Given the description of an element on the screen output the (x, y) to click on. 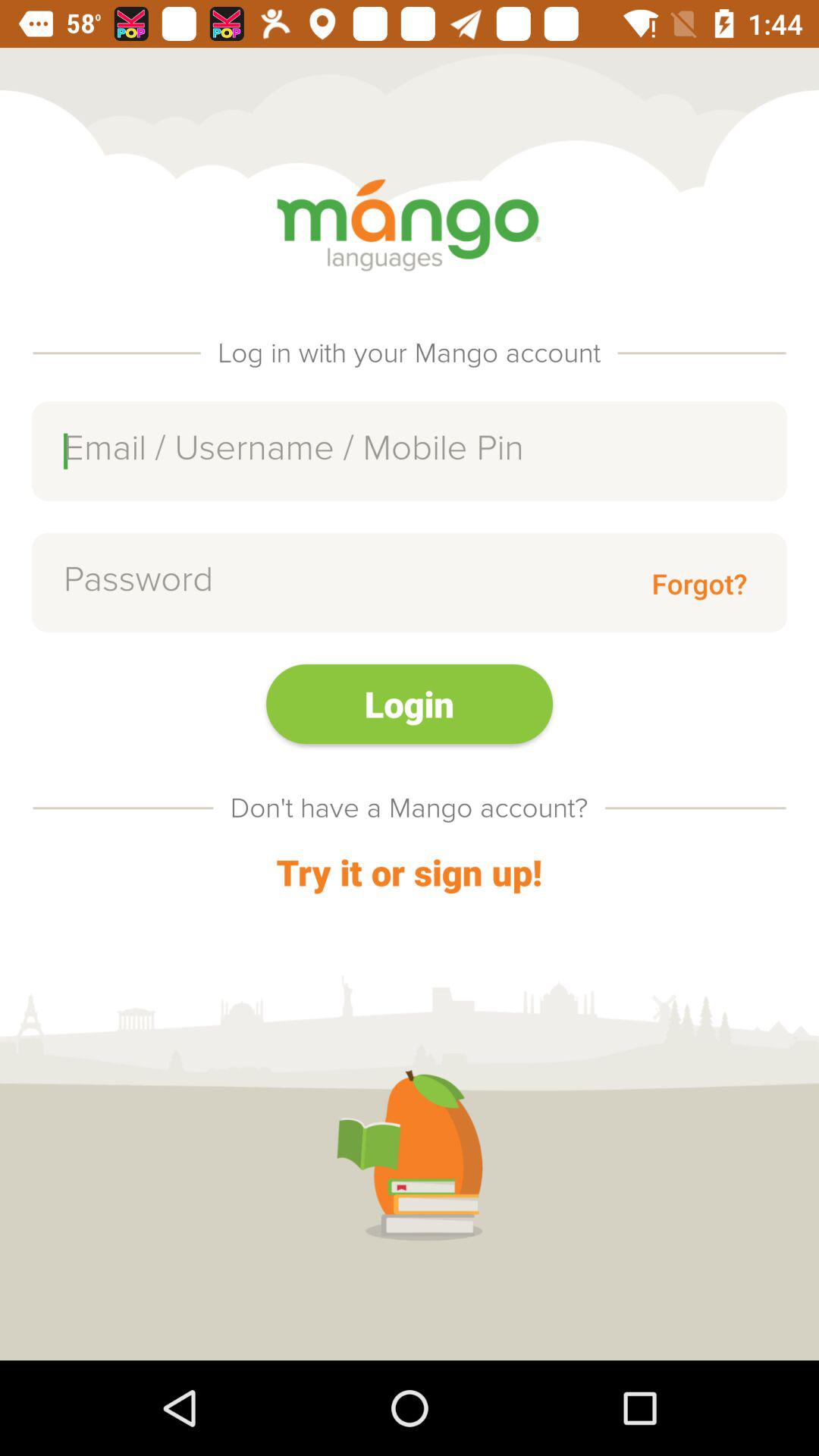
turn on try it or icon (409, 872)
